Given the description of an element on the screen output the (x, y) to click on. 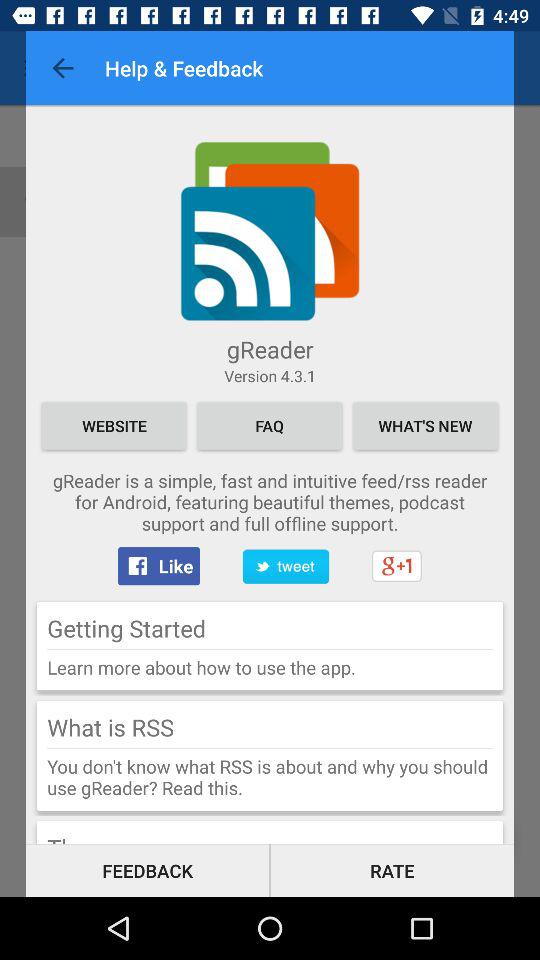
turn on like (158, 566)
